Given the description of an element on the screen output the (x, y) to click on. 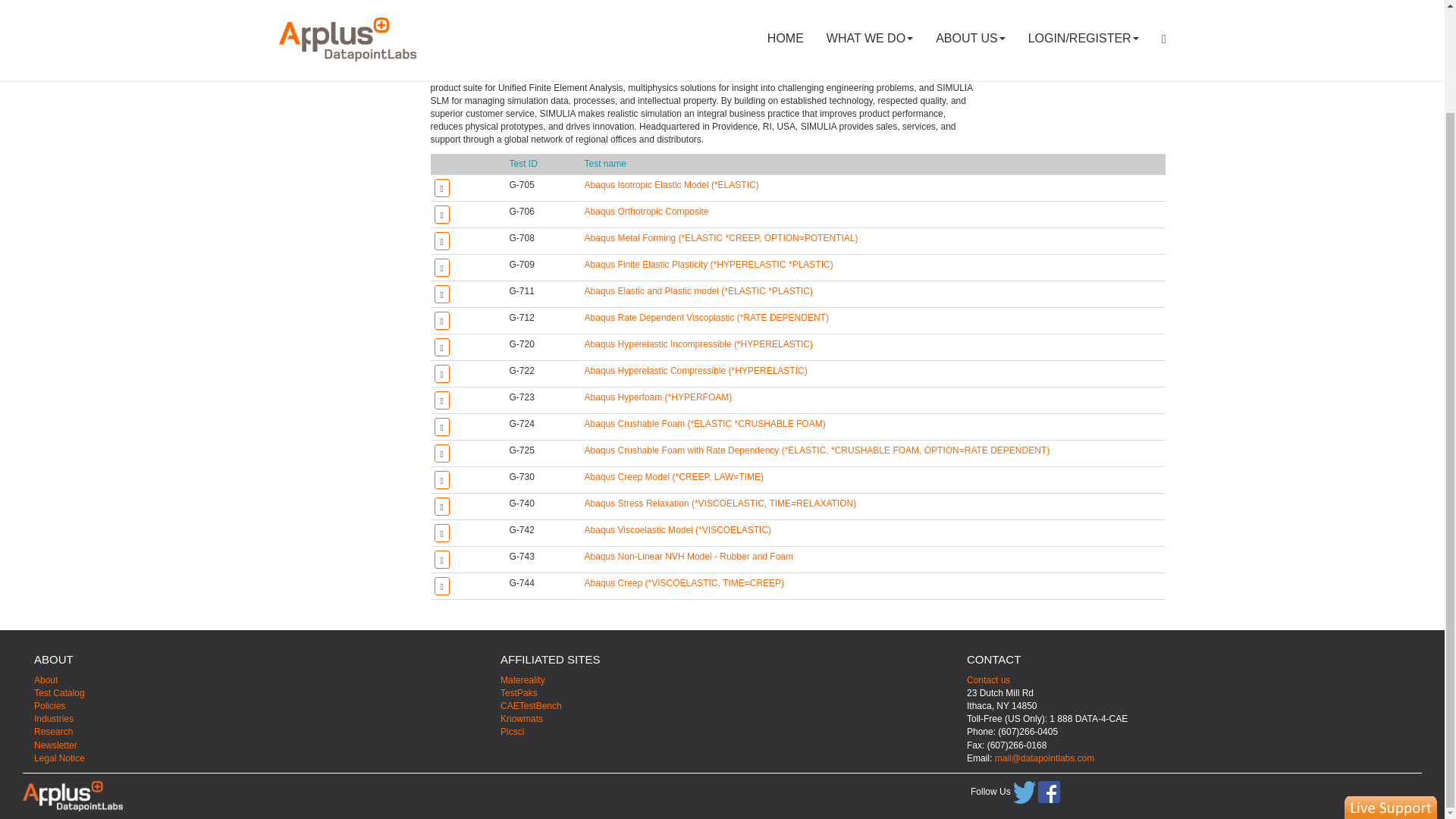
View (647, 211)
Follow DatapointLabs on Twitter (1024, 792)
View (698, 344)
View (706, 317)
View (817, 450)
View (722, 237)
View (698, 290)
View (671, 184)
Speak with our support staff! (1390, 687)
View (658, 397)
View (721, 502)
Like DatapointLabs on Facebook (1048, 792)
View (684, 583)
View (678, 529)
View (708, 264)
